Given the description of an element on the screen output the (x, y) to click on. 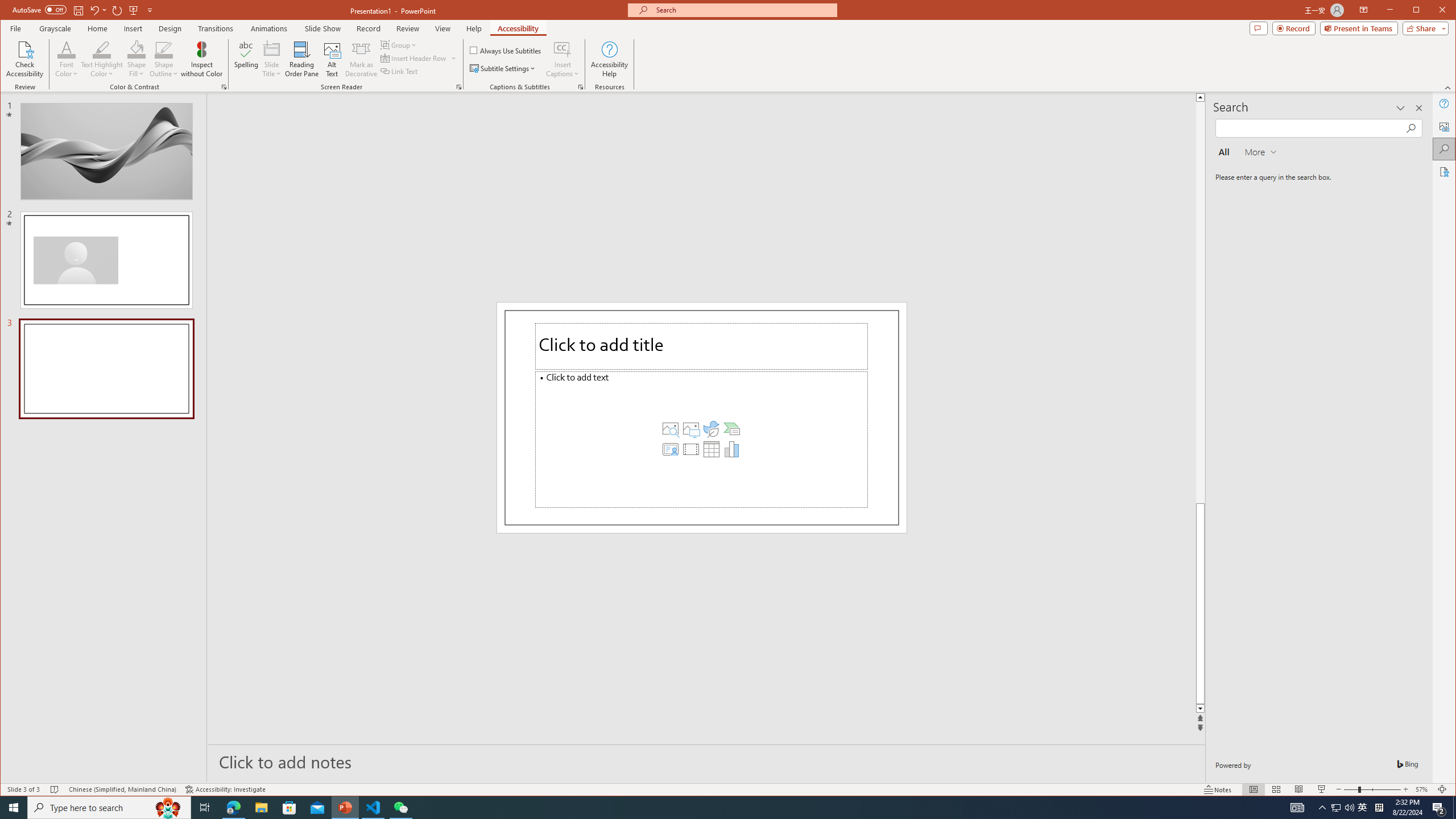
Grayscale (55, 28)
File Explorer (261, 807)
Pictures (690, 428)
Microsoft Edge - 1 running window (233, 807)
Reading Order Pane (301, 59)
Inspect without Color (201, 59)
Link Text (399, 70)
